Given the description of an element on the screen output the (x, y) to click on. 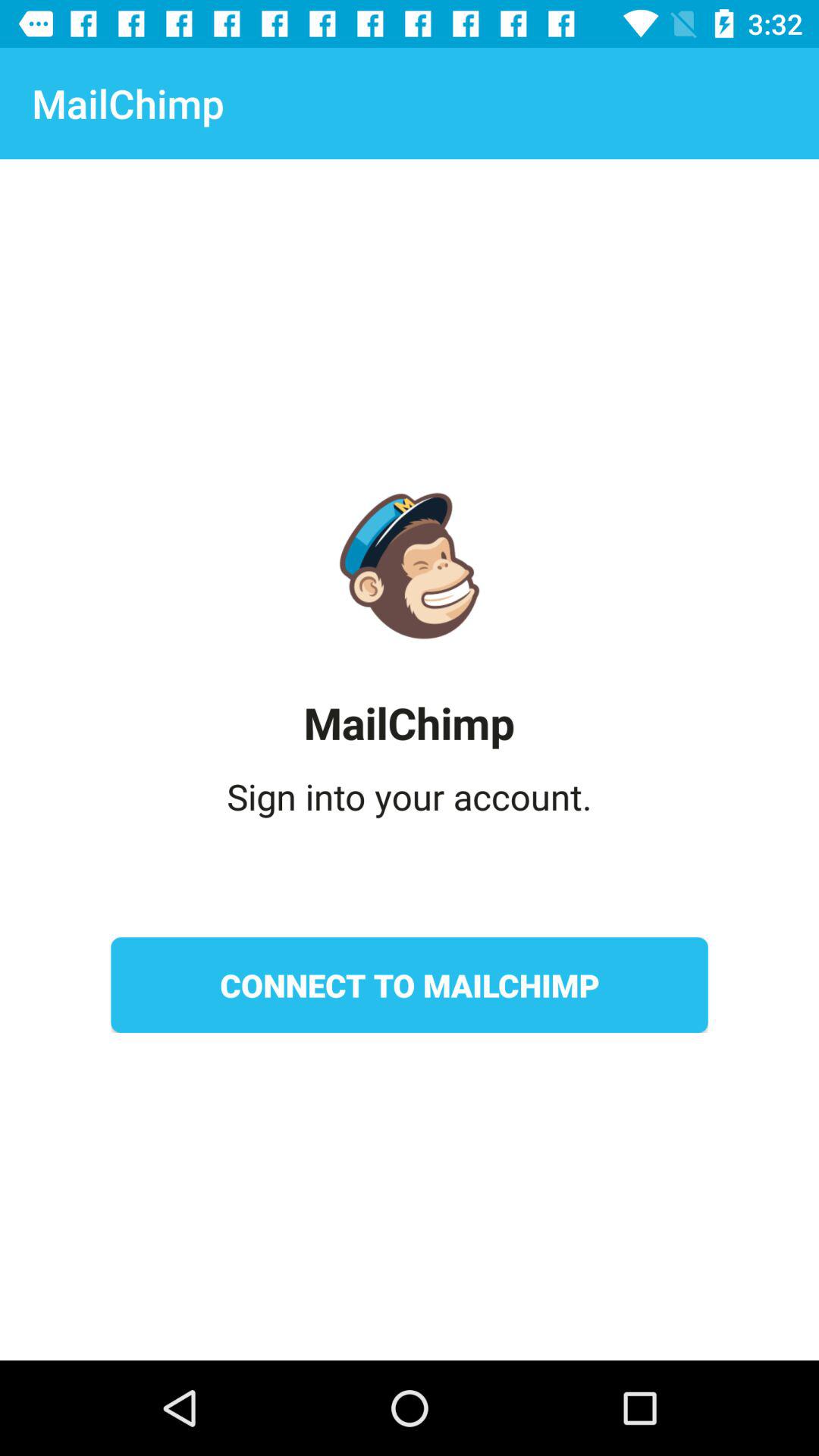
press icon below sign into your (409, 984)
